Given the description of an element on the screen output the (x, y) to click on. 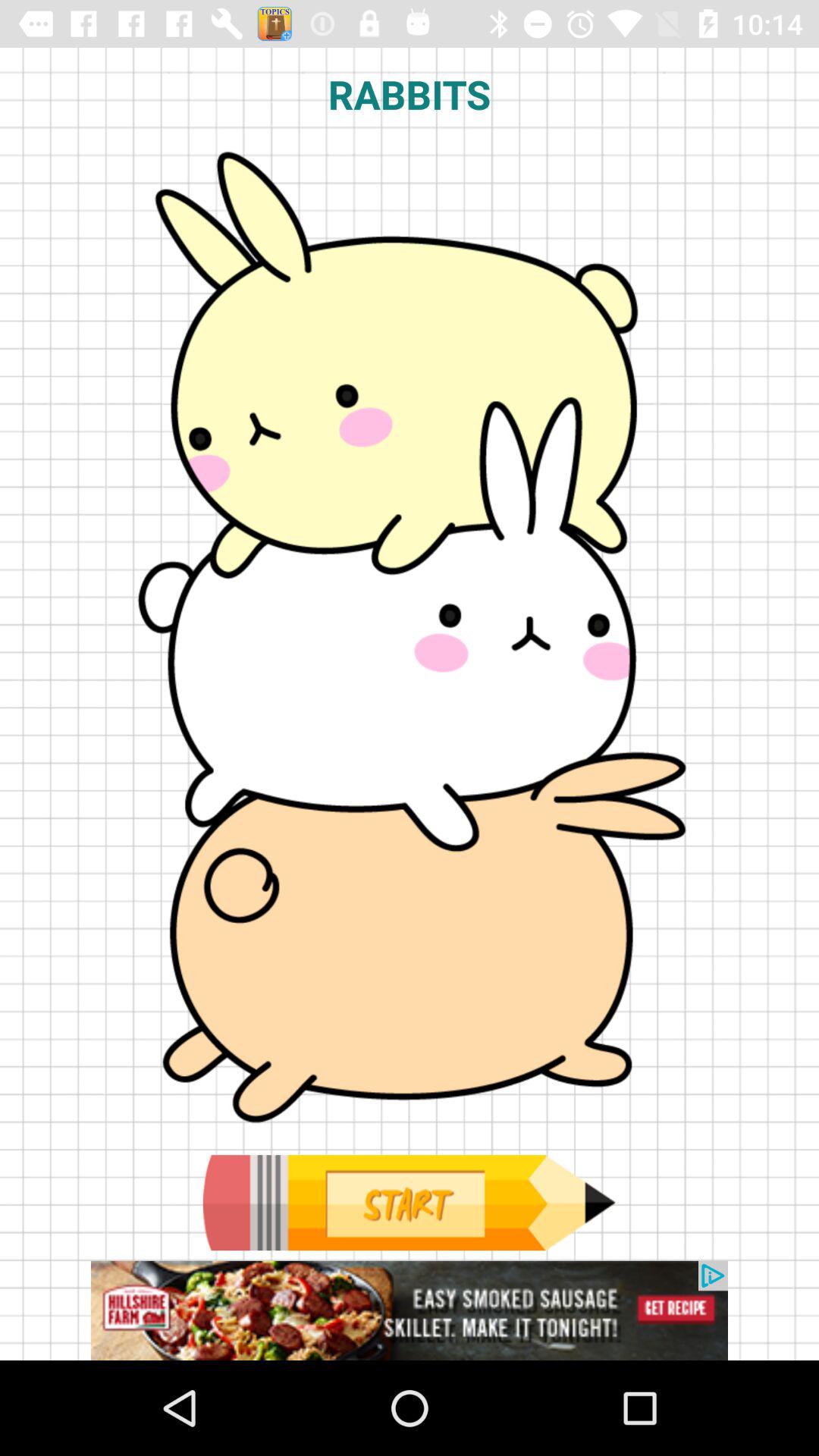
start button (409, 1202)
